Given the description of an element on the screen output the (x, y) to click on. 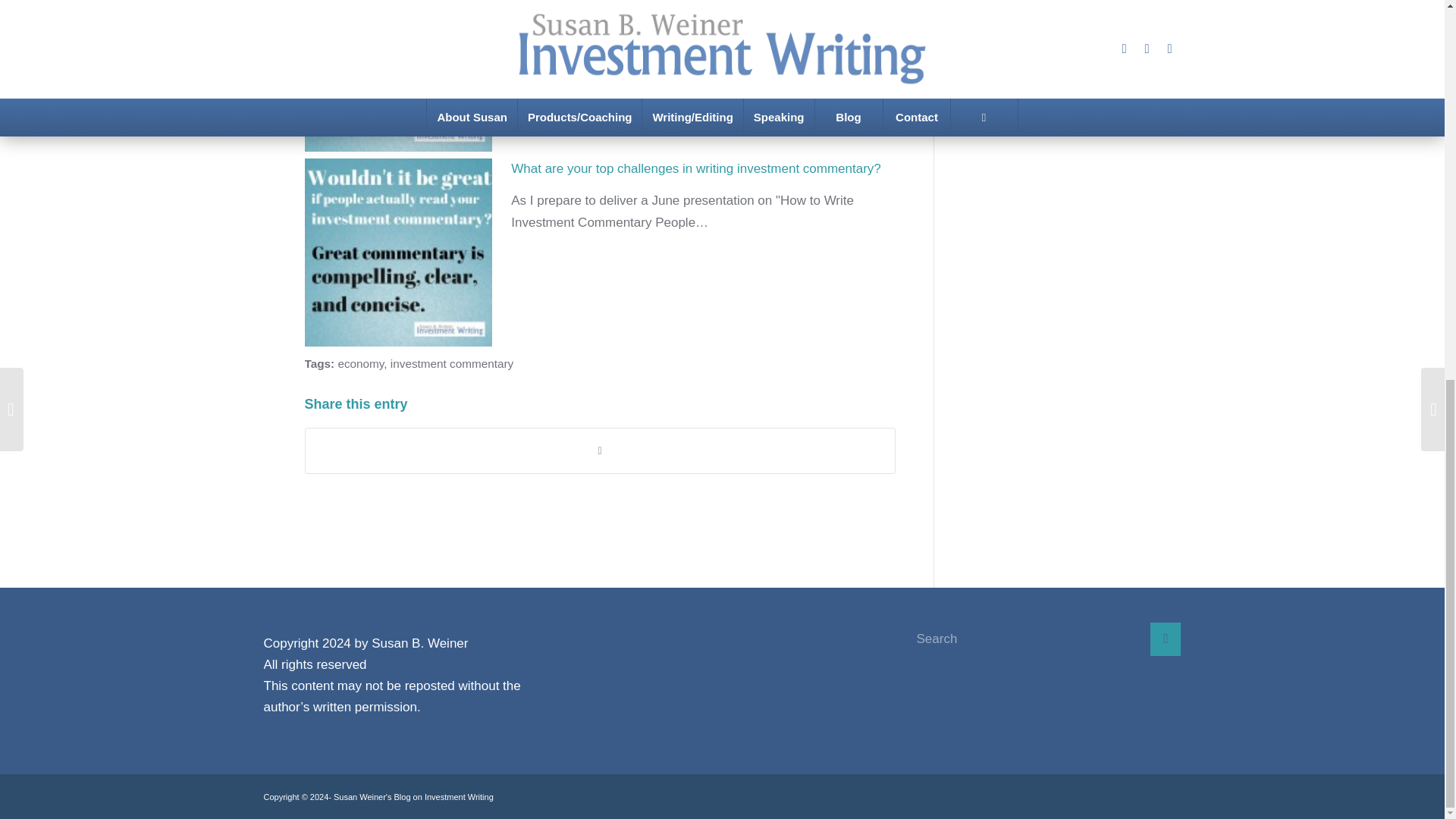
economy (360, 363)
Click to start search (1165, 639)
investment commentary (451, 363)
